Given the description of an element on the screen output the (x, y) to click on. 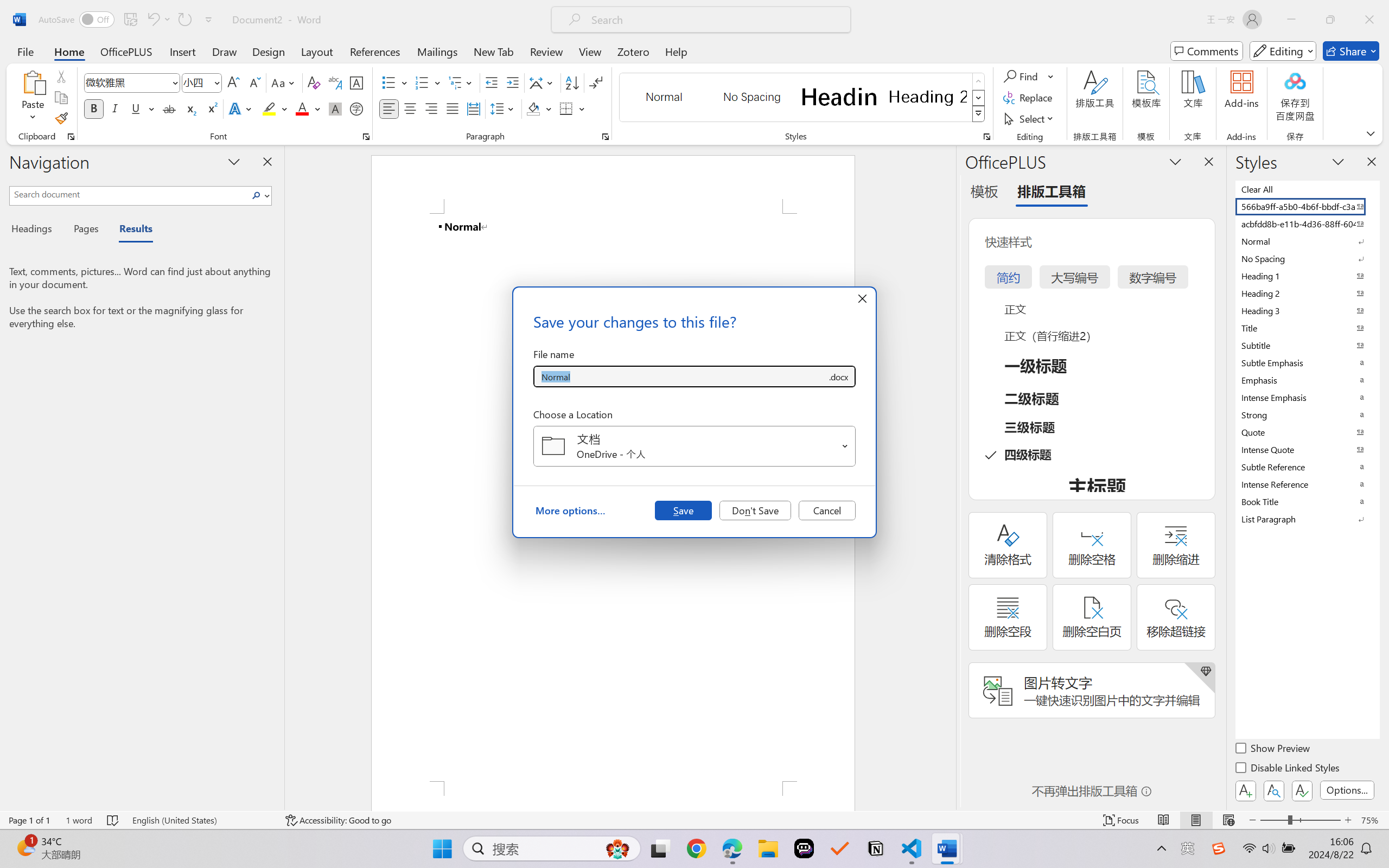
Subscript (190, 108)
Microsoft search (715, 19)
Customize Quick Access Toolbar (208, 19)
Replace... (1029, 97)
Superscript (210, 108)
Open (844, 446)
AutomationID: QuickStylesGallery (802, 97)
Title (1306, 327)
Phonetic Guide... (334, 82)
Underline (142, 108)
Character Border (356, 82)
